Given the description of an element on the screen output the (x, y) to click on. 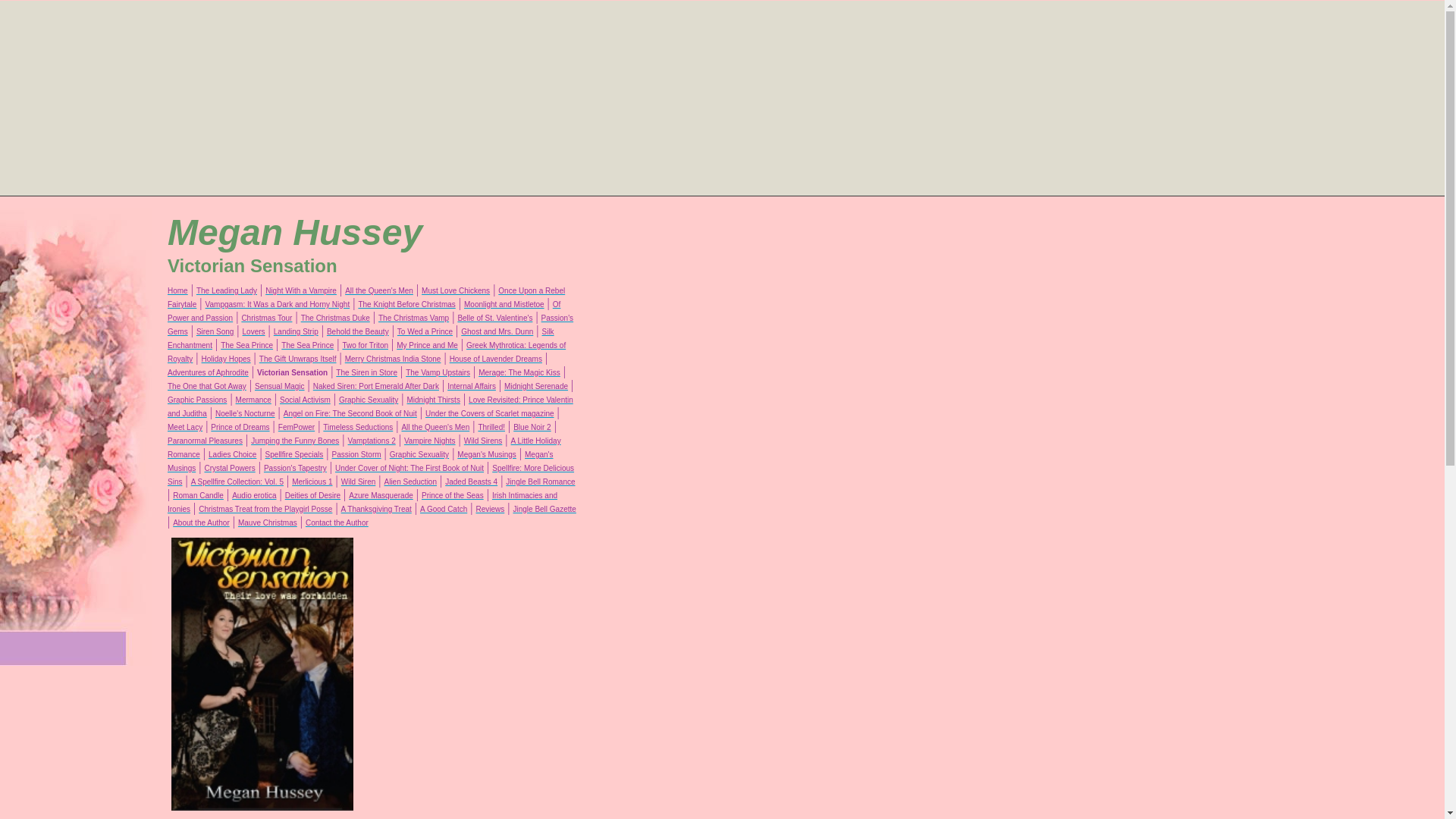
Of Power and Passion (363, 311)
Merage: The Magic Kiss (519, 372)
Christmas Tour (266, 317)
Behold the Beauty (357, 331)
The Christmas Vamp (413, 317)
The Sea Prince (307, 345)
Ghost and Mrs. Dunn (496, 331)
The Gift Unwraps Itself (297, 358)
The Christmas Duke (335, 317)
All the Queen's Men (379, 290)
